Given the description of an element on the screen output the (x, y) to click on. 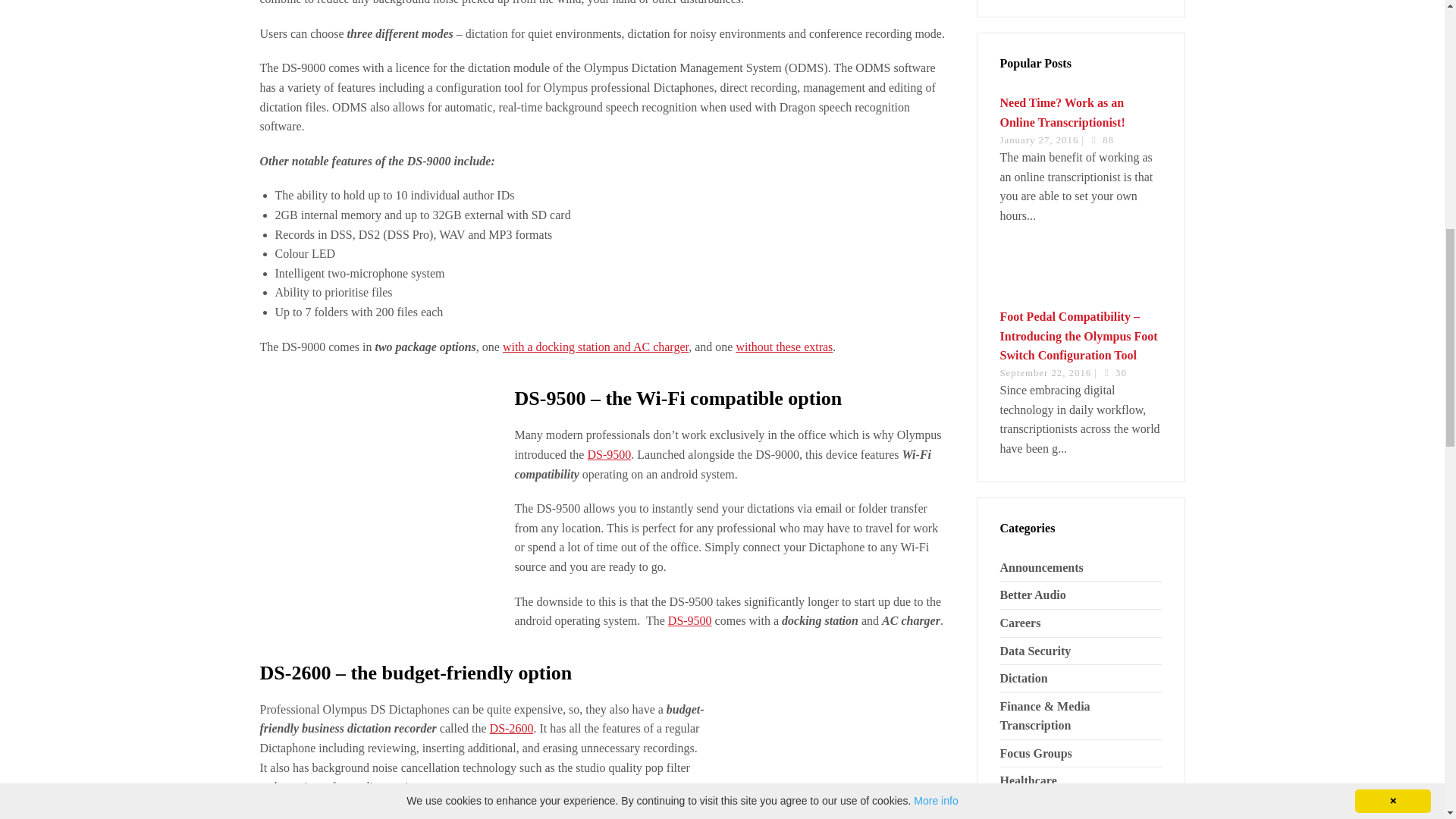
Need Time? Work as an Online Transcriptionist! (1061, 112)
